Given the description of an element on the screen output the (x, y) to click on. 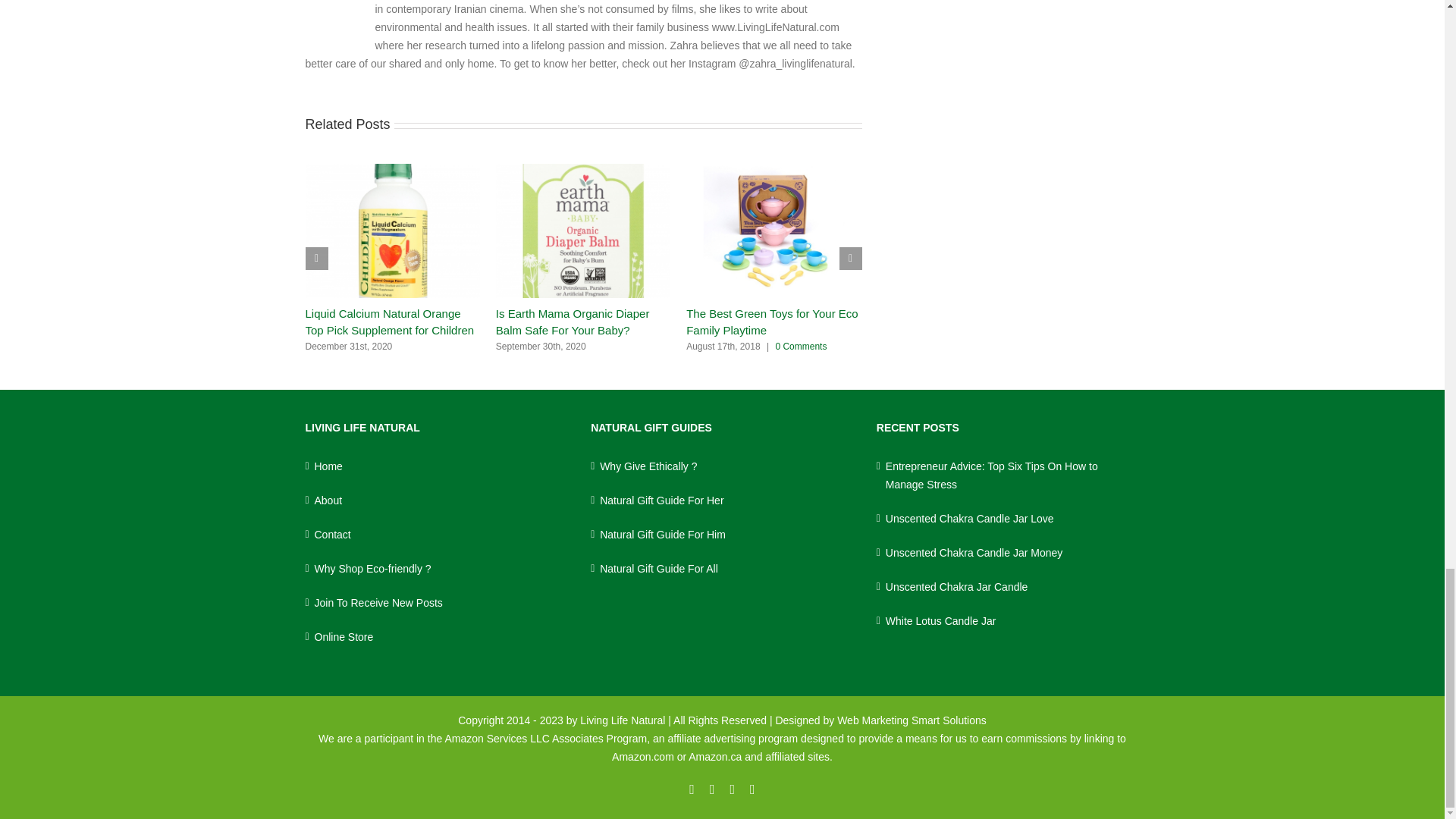
Is Earth Mama Organic Diaper Balm Safe For Your Baby? (572, 321)
The Best Green Toys for Your Eco Family Playtime (772, 321)
